Given the description of an element on the screen output the (x, y) to click on. 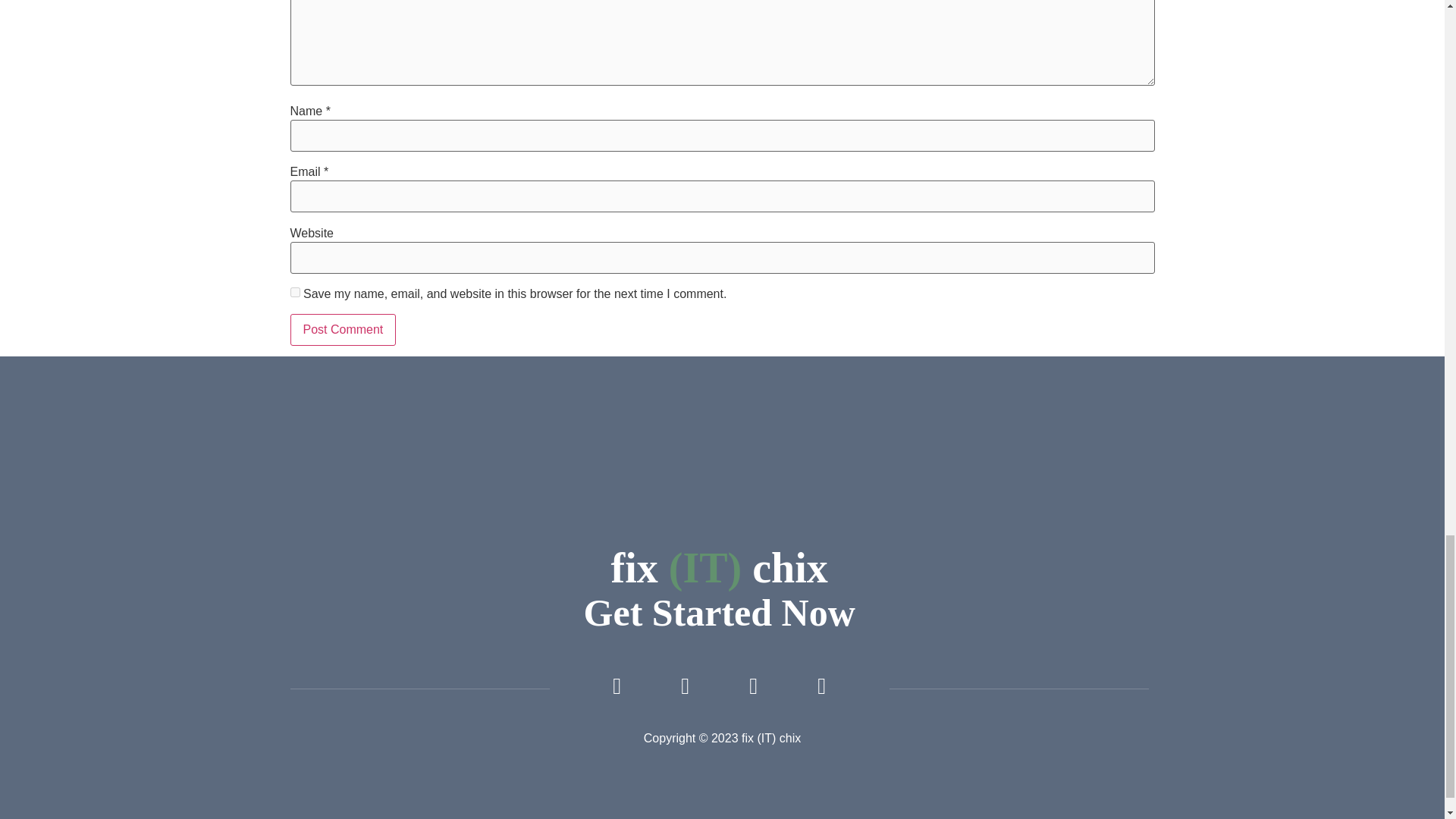
yes (294, 292)
Post Comment (342, 329)
Post Comment (342, 329)
